Given the description of an element on the screen output the (x, y) to click on. 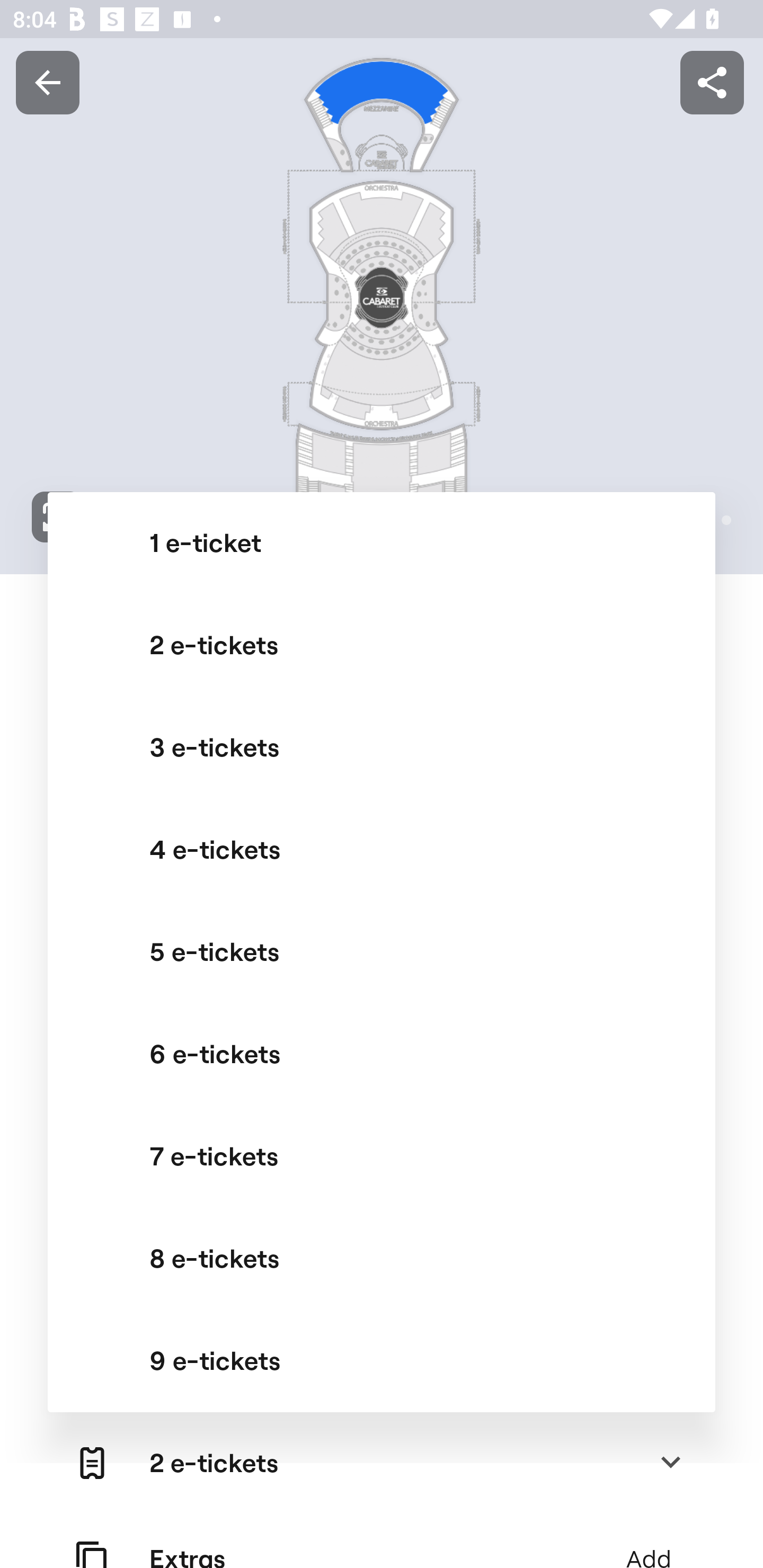
1 e-ticket (381, 543)
2 e-tickets (381, 645)
3 e-tickets (381, 747)
4 e-tickets (381, 849)
5 e-tickets (381, 952)
6 e-tickets (381, 1054)
7 e-tickets (381, 1156)
8 e-tickets (381, 1258)
9 e-tickets (381, 1360)
